Given the description of an element on the screen output the (x, y) to click on. 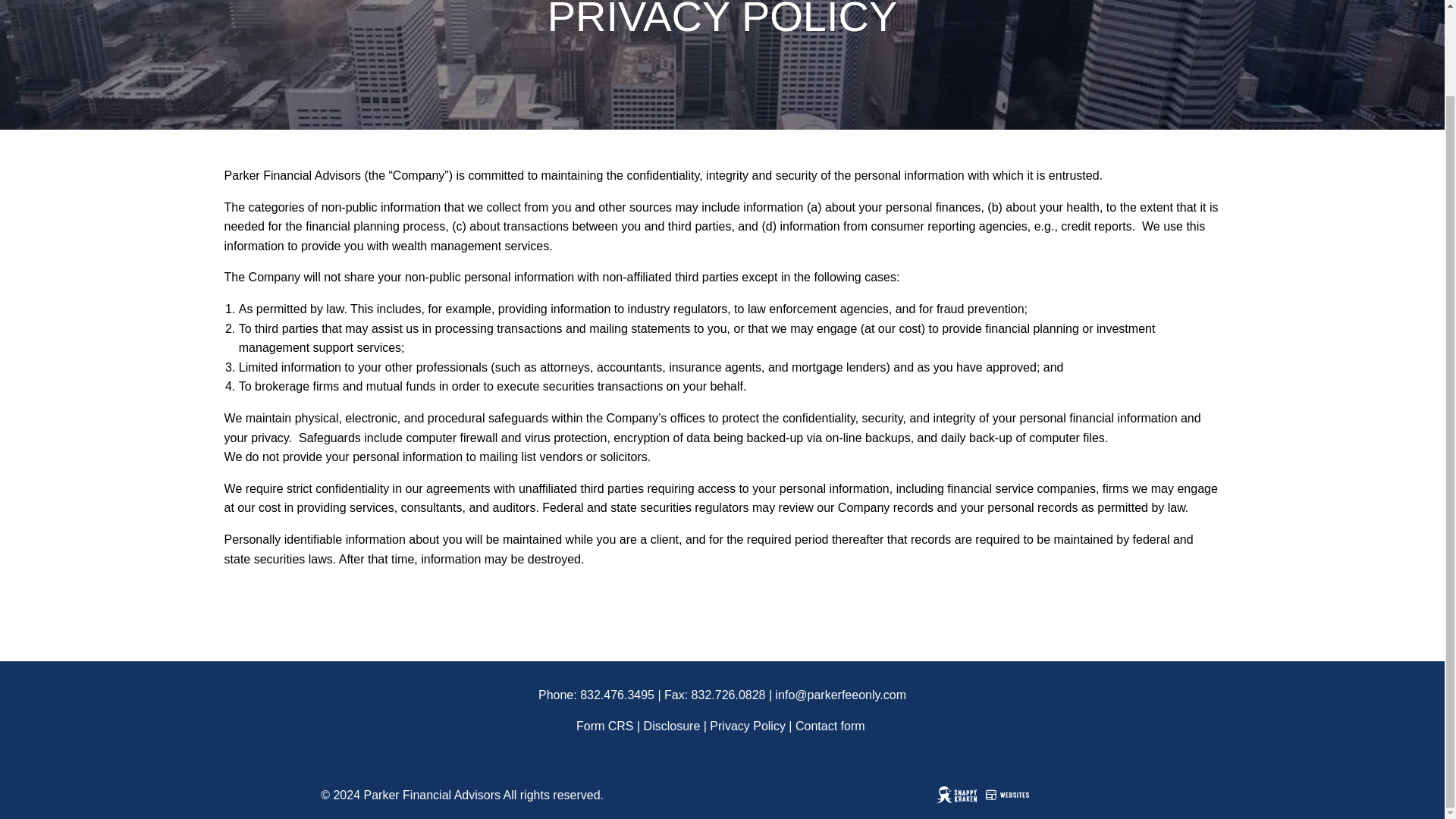
Form CRS (604, 725)
Contact (829, 725)
Privacy Policy (748, 725)
832.476.3495 (616, 694)
Disclosure (671, 725)
Disclosures (671, 725)
Privacy Policy (748, 725)
Contact form (829, 725)
